Given the description of an element on the screen output the (x, y) to click on. 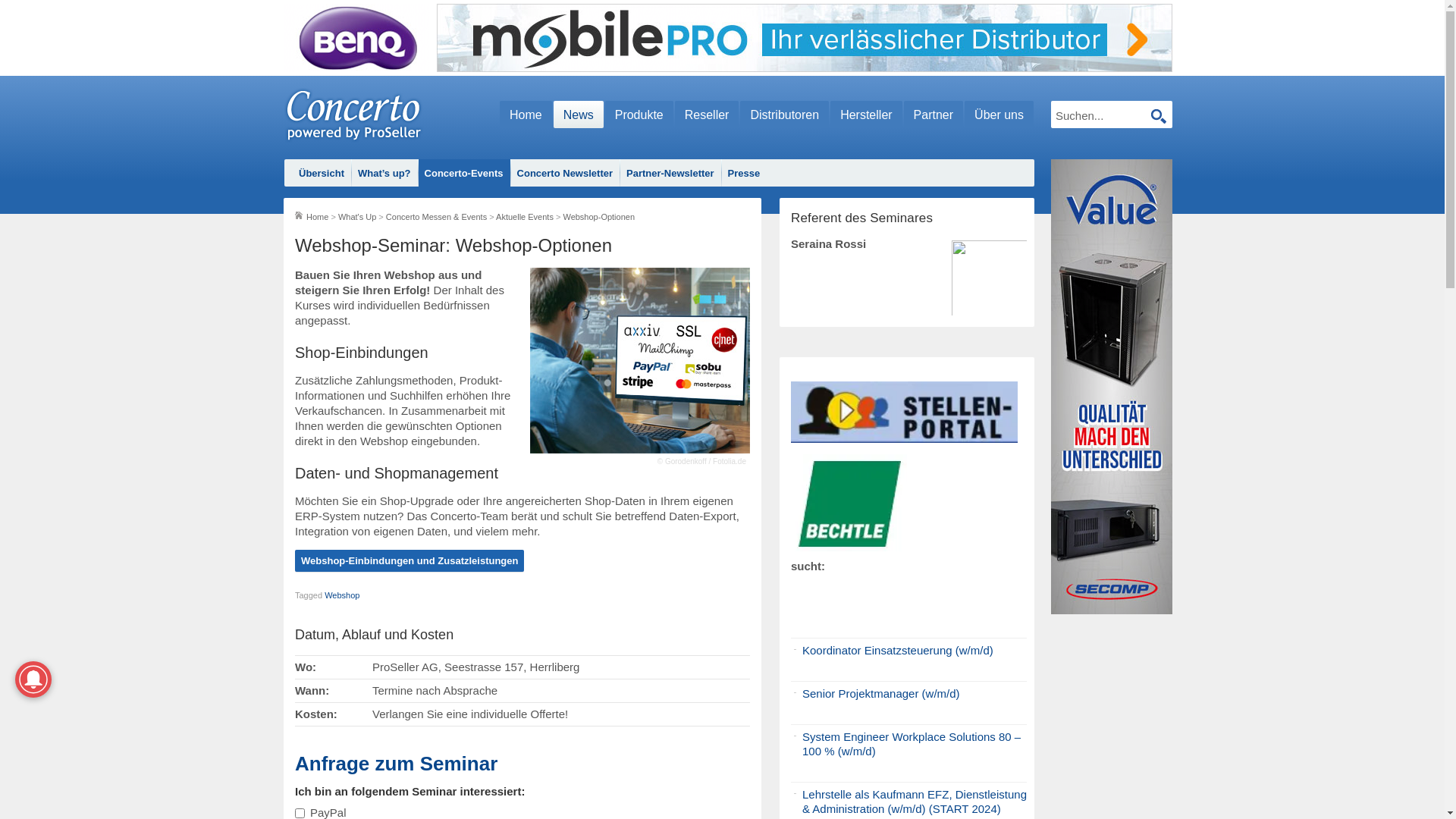
Concerto Messen & Events Element type: text (435, 216)
Reseller Element type: text (706, 114)
Webshop Element type: text (341, 594)
3rd party ad content Element type: hover (804, 37)
Partner-Newsletter Element type: text (670, 173)
Koordinator Einsatzsteuerung (w/m/d) Element type: text (897, 649)
3rd party ad content Element type: hover (1111, 386)
Home Element type: text (317, 216)
What's Up Element type: text (357, 216)
Distributoren Element type: text (784, 114)
News Element type: text (578, 114)
Concertopro Element type: hover (353, 114)
Home Element type: text (525, 114)
Senior Projektmanager (w/m/d) Element type: text (881, 693)
Aktuelle Events Element type: text (524, 216)
Presse Element type: text (744, 173)
Concerto-Events Element type: text (463, 173)
Partner Element type: text (933, 114)
Webshop-Einbindungen und Zusatzleistungen Element type: text (409, 560)
Produkte Element type: text (639, 114)
Hersteller Element type: text (865, 114)
3rd party ad content Element type: hover (356, 37)
Concerto Newsletter Element type: text (564, 173)
Webshop-Optionen Element type: text (598, 216)
